Given the description of an element on the screen output the (x, y) to click on. 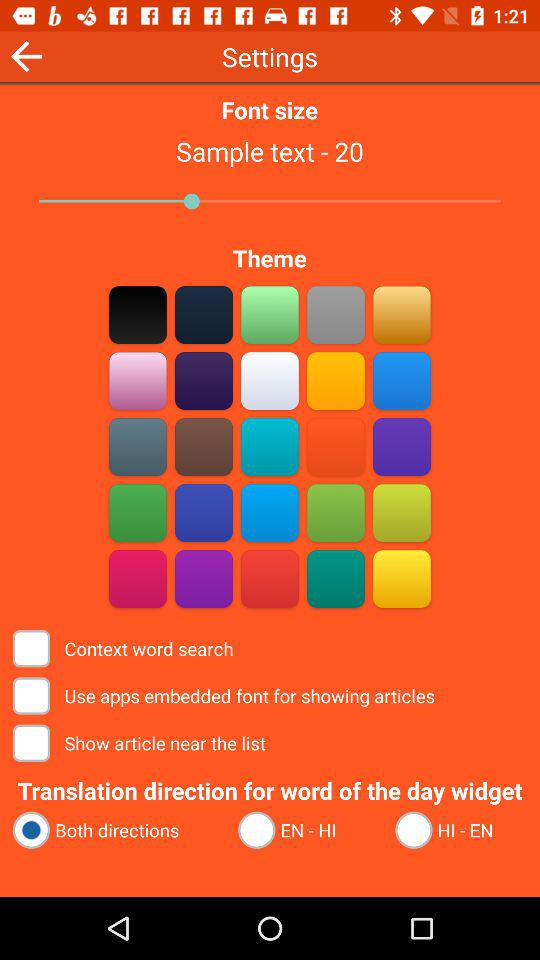
change color (203, 380)
